Given the description of an element on the screen output the (x, y) to click on. 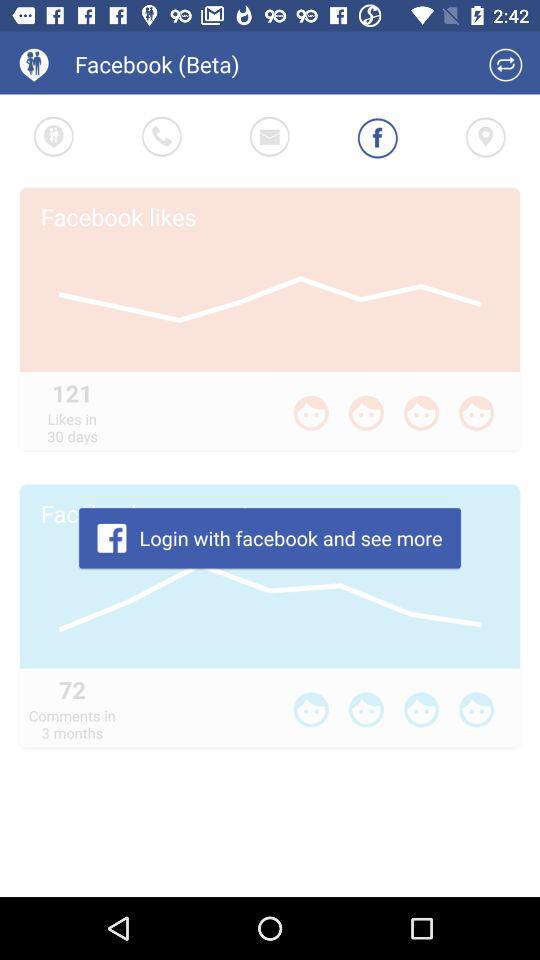
update the page (505, 64)
